Given the description of an element on the screen output the (x, y) to click on. 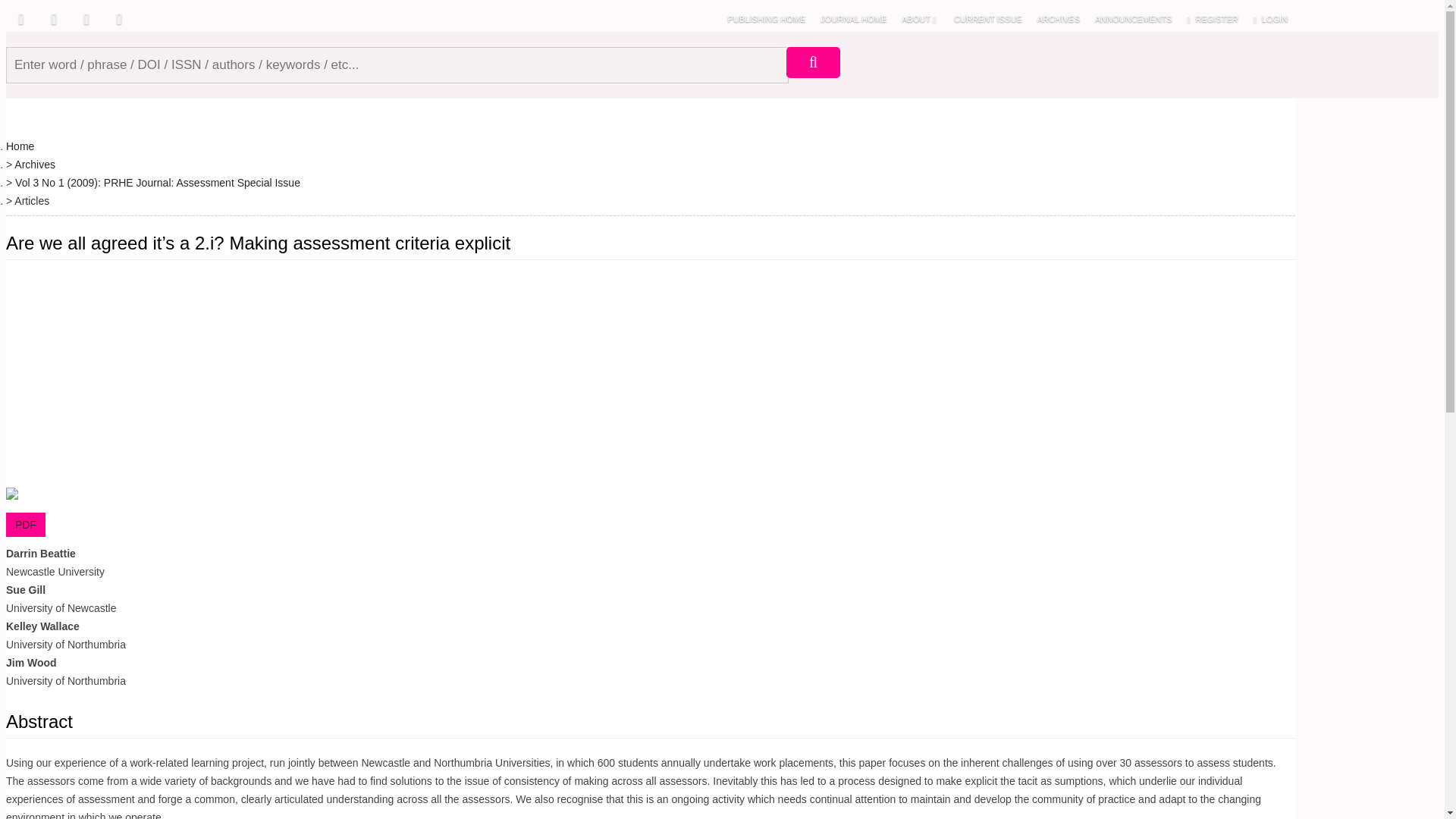
Archives (34, 163)
Home (19, 145)
JOURNAL HOME (852, 18)
PUBLISHING HOME (766, 18)
ANNOUNCEMENTS (1133, 18)
REGISTER (1211, 18)
PDF (25, 524)
CURRENT ISSUE (987, 18)
LOGIN (1270, 18)
ARCHIVES (1058, 18)
